Given the description of an element on the screen output the (x, y) to click on. 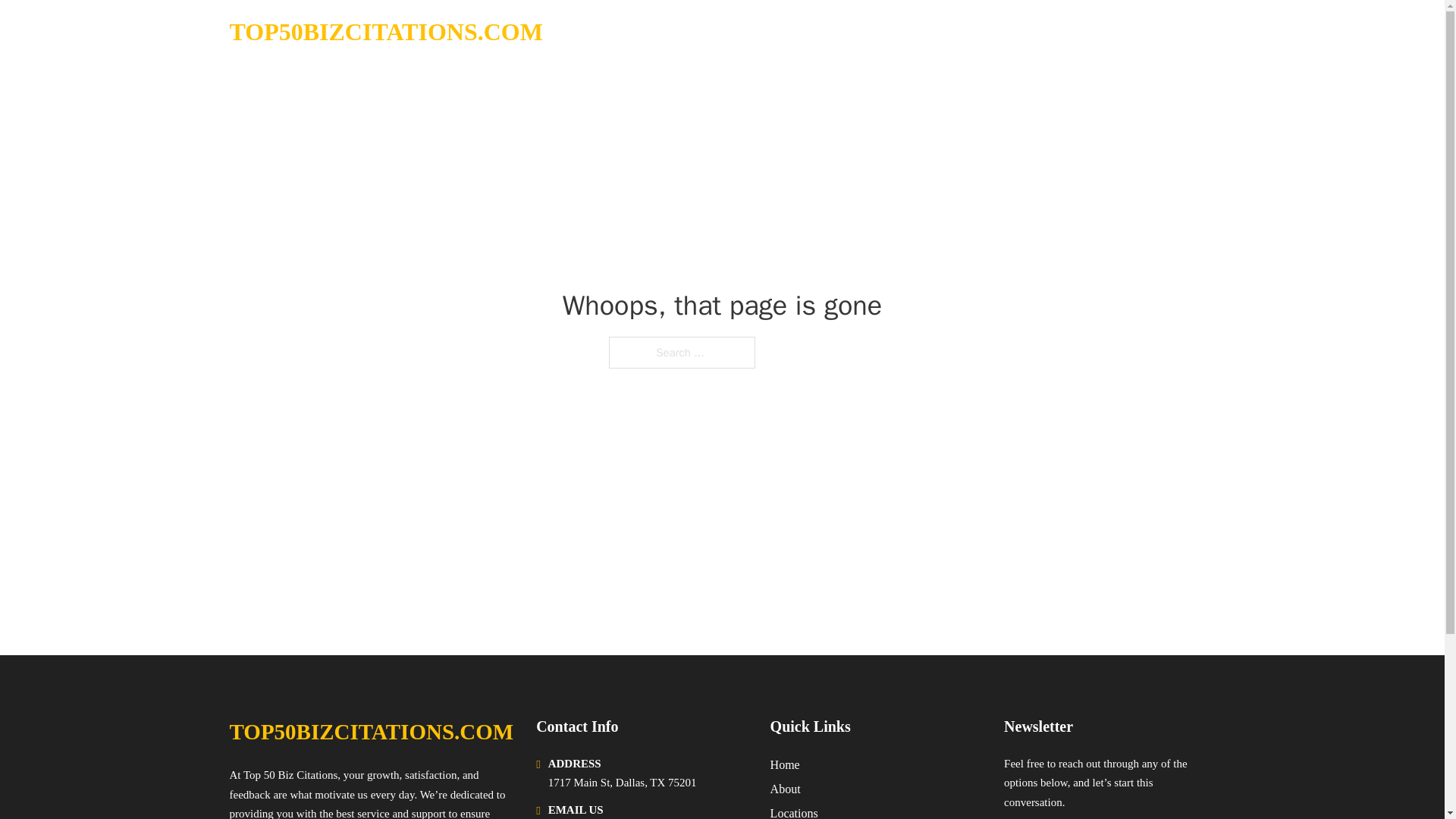
TOP50BIZCITATIONS.COM (384, 31)
Locations (794, 811)
About (785, 788)
LOCATIONS (1098, 31)
TOP50BIZCITATIONS.COM (370, 732)
HOME (1025, 31)
Home (784, 764)
